Given the description of an element on the screen output the (x, y) to click on. 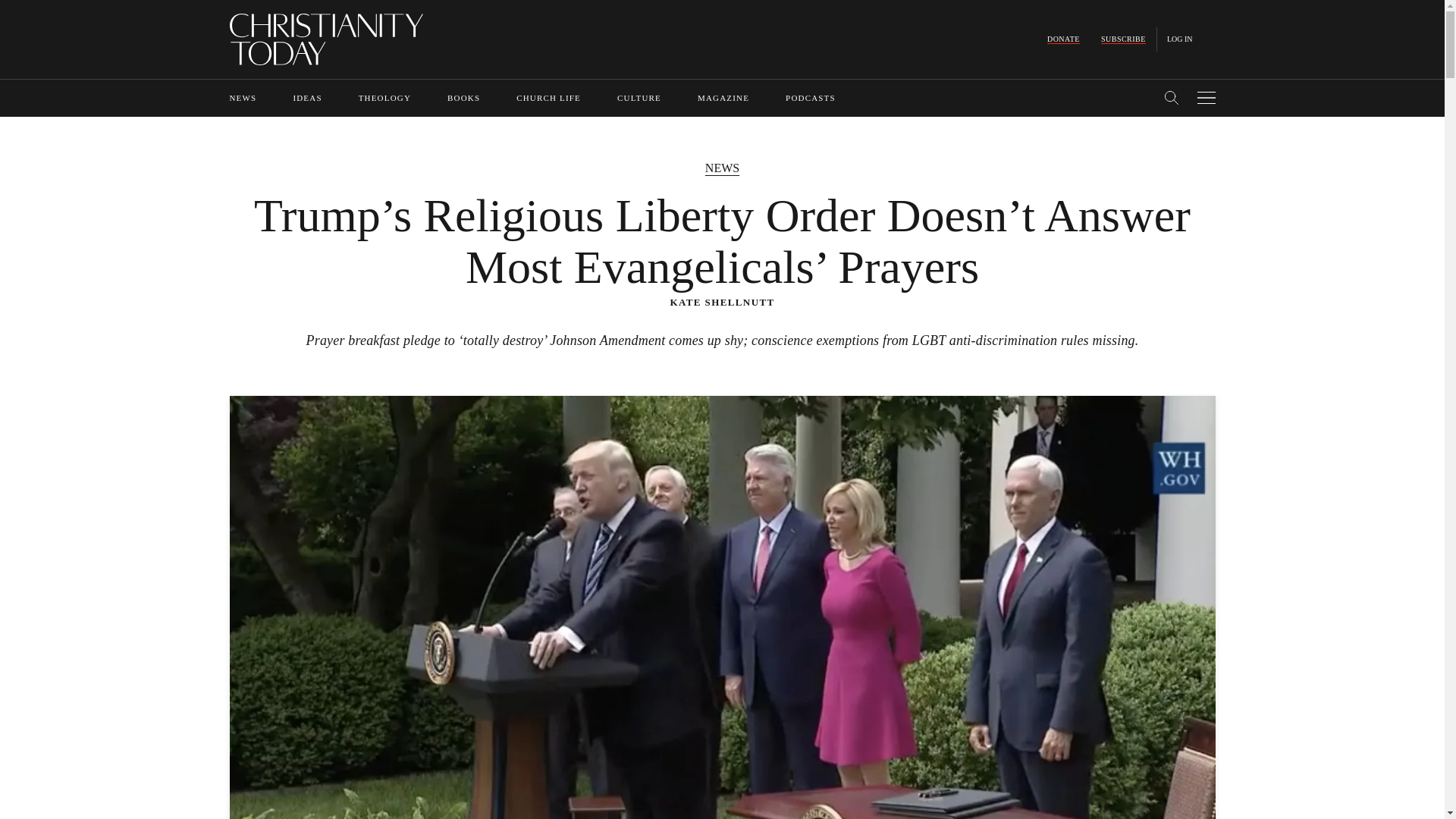
MAGAZINE (723, 97)
CULTURE (639, 97)
PODCASTS (810, 97)
LOG IN (1179, 39)
IDEAS (306, 97)
DONATE (1063, 39)
THEOLOGY (384, 97)
SUBSCRIBE (1122, 39)
BOOKS (463, 97)
CHURCH LIFE (548, 97)
